Given the description of an element on the screen output the (x, y) to click on. 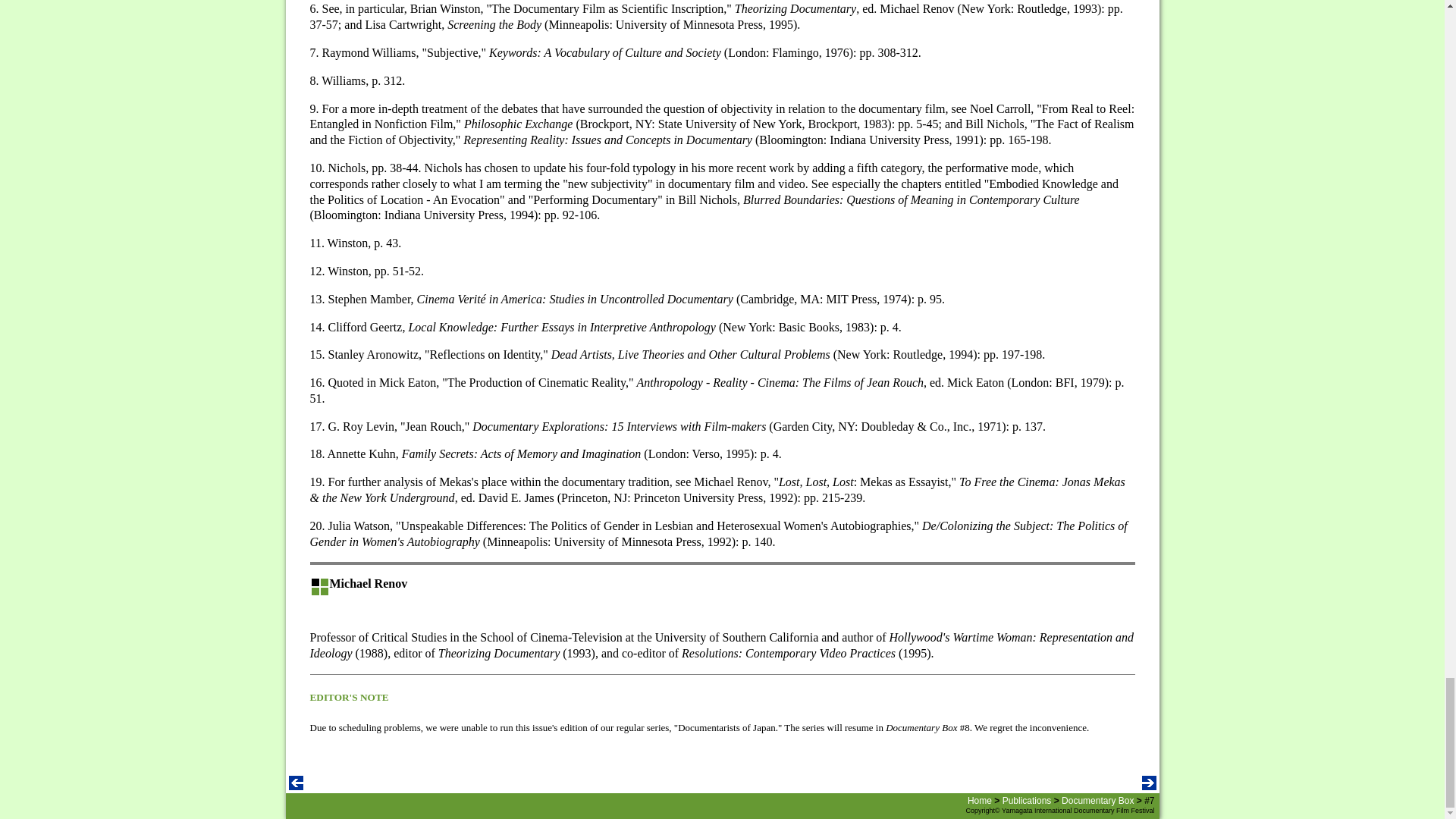
next (1148, 785)
previous (295, 785)
